Given the description of an element on the screen output the (x, y) to click on. 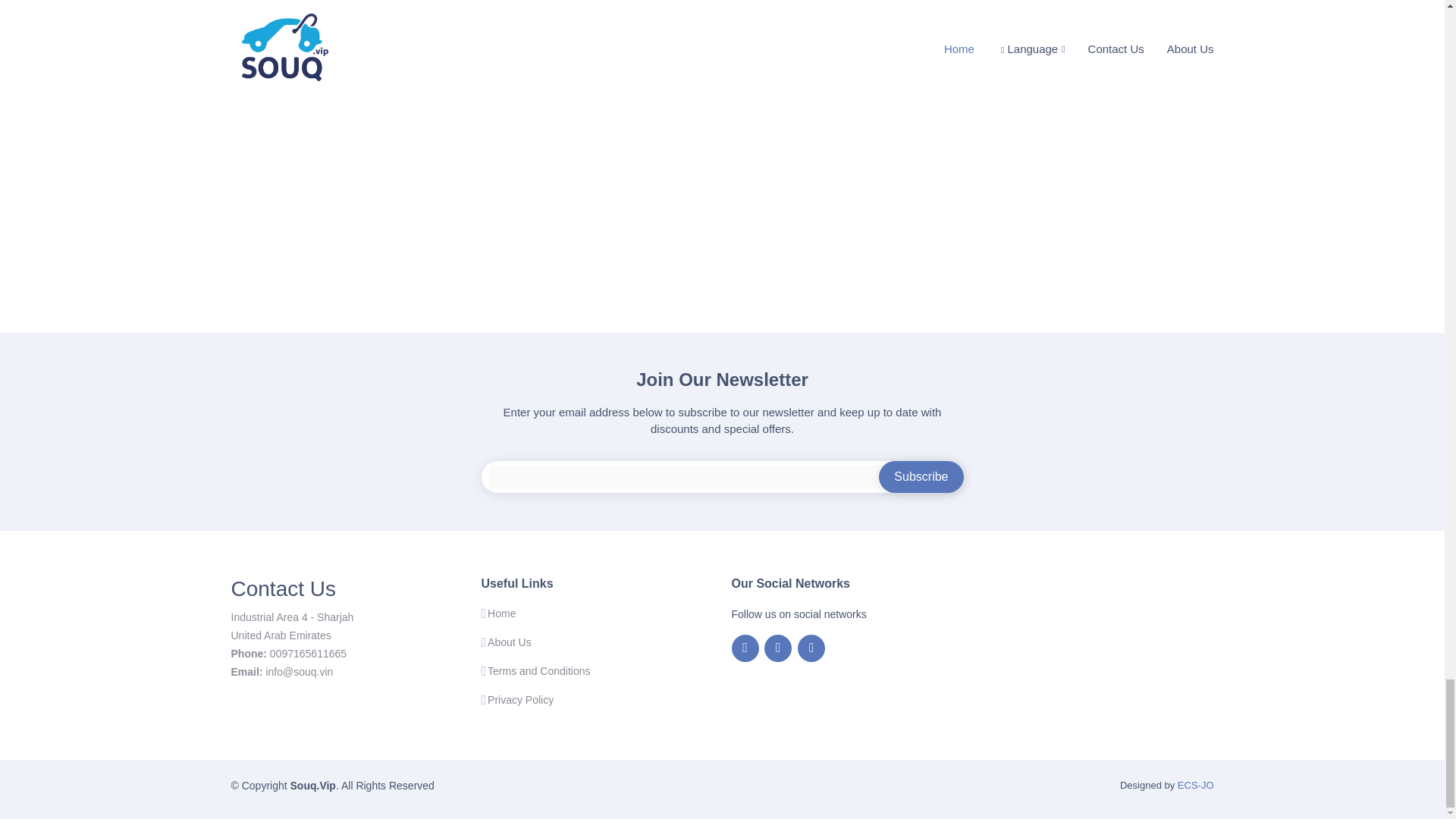
ECS-JO (1195, 785)
About Us (509, 642)
Privacy Policy (520, 699)
Terms and Conditions (538, 670)
Subscribe (920, 477)
Home (501, 613)
Subscribe (920, 477)
